Given the description of an element on the screen output the (x, y) to click on. 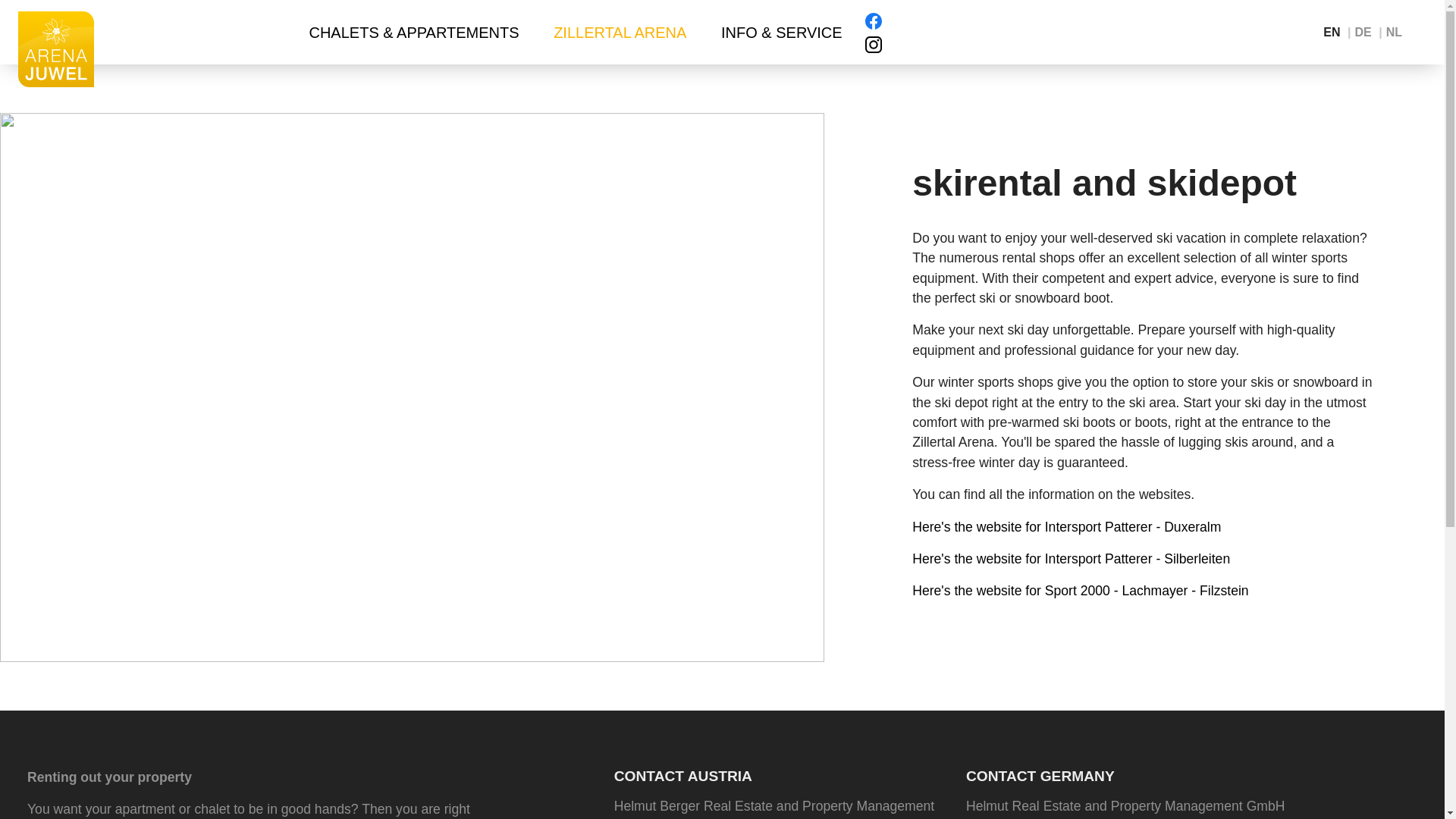
Here's the website for Intersport Patterer - Duxeralm (1066, 526)
Here's the website for Intersport Patterer - Silberleiten (1071, 558)
Home (55, 48)
NL (1394, 31)
Here's the website for Sport 2000 - Lachmayer - Filzstein (1079, 590)
DE (1362, 31)
ZILLERTAL ARENA (619, 32)
